Given the description of an element on the screen output the (x, y) to click on. 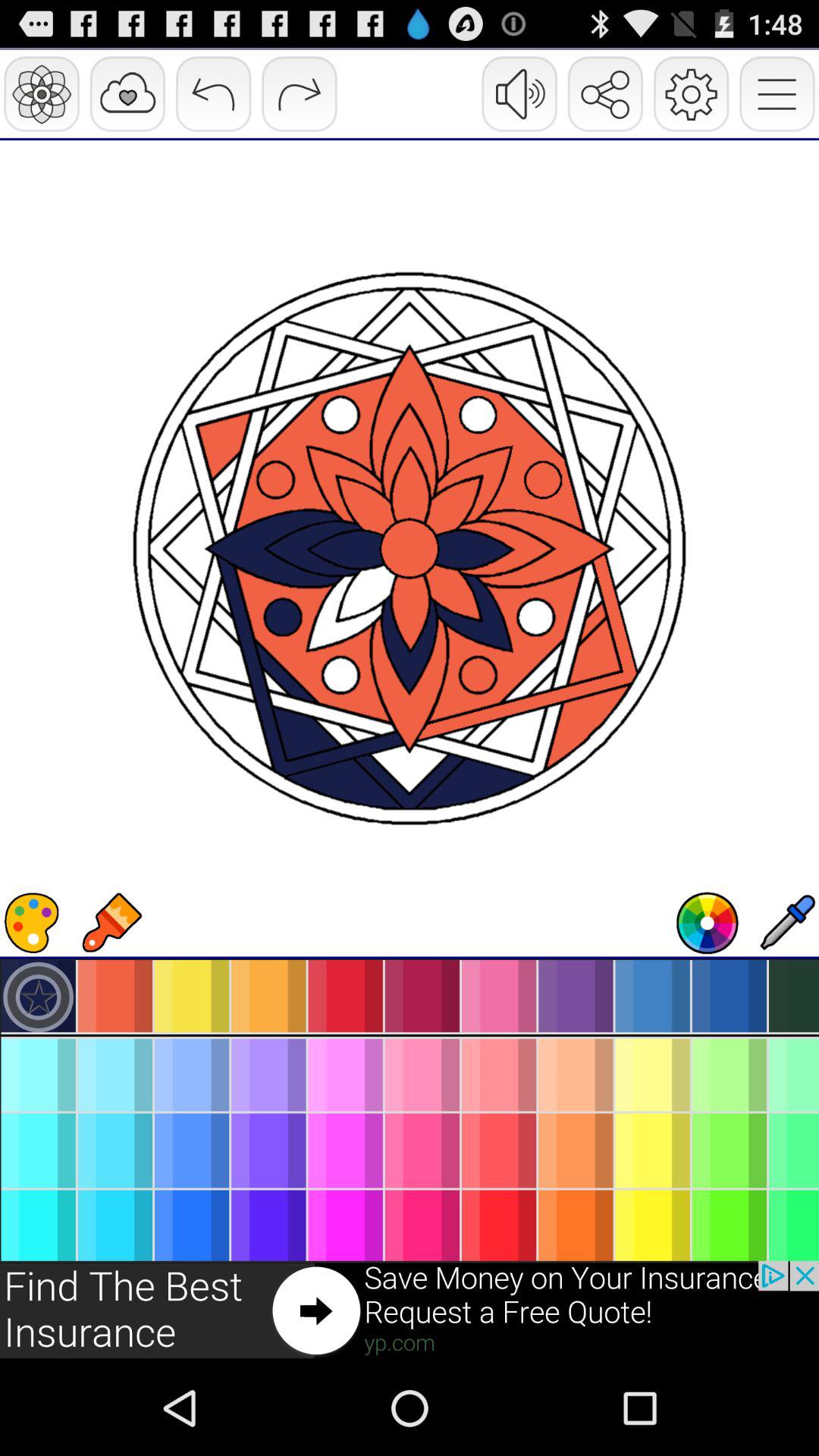
paint brush selector (111, 922)
